Given the description of an element on the screen output the (x, y) to click on. 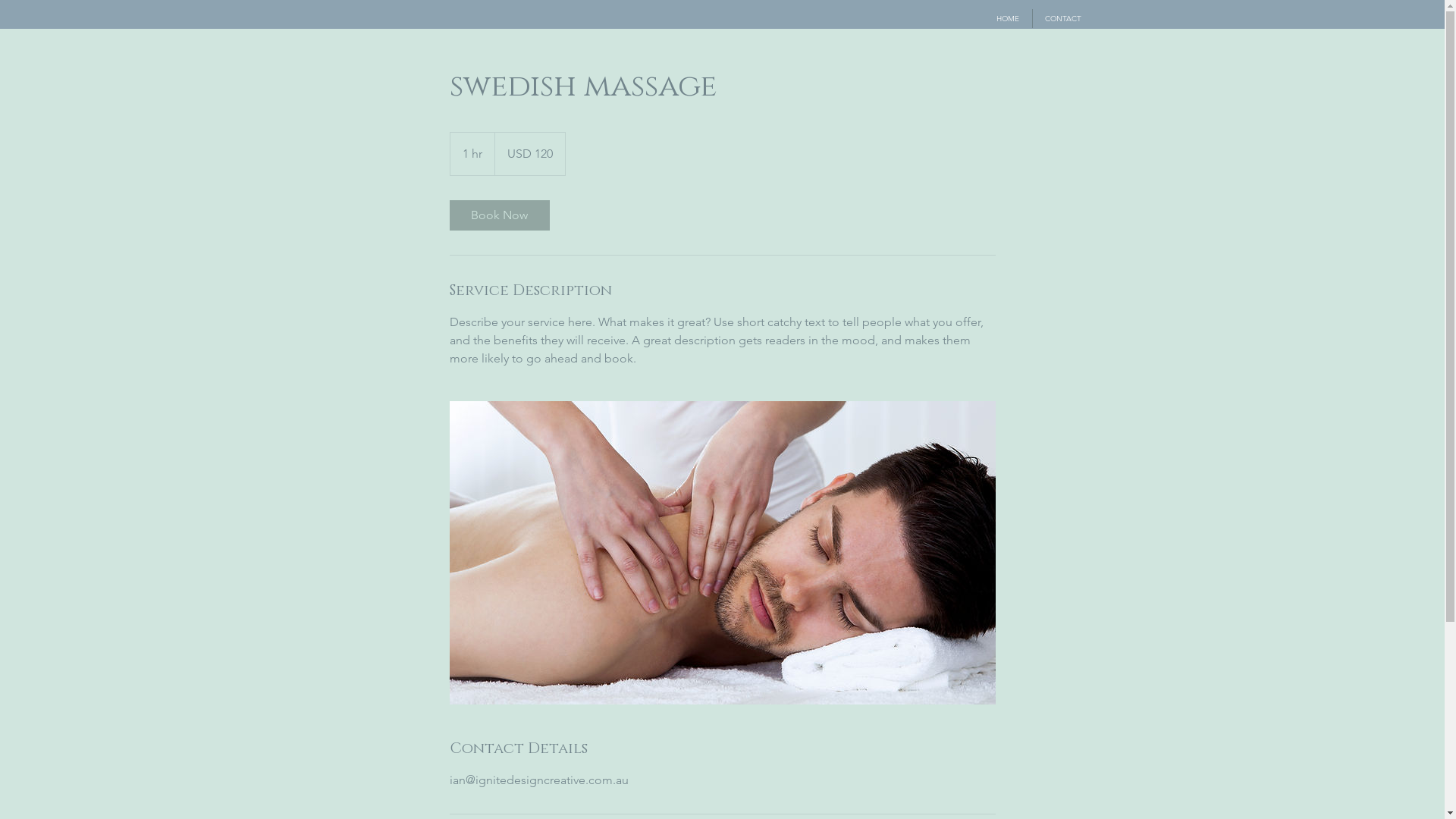
CONTACT Element type: text (1063, 18)
Book Now Element type: text (498, 215)
HOME Element type: text (1006, 18)
